Given the description of an element on the screen output the (x, y) to click on. 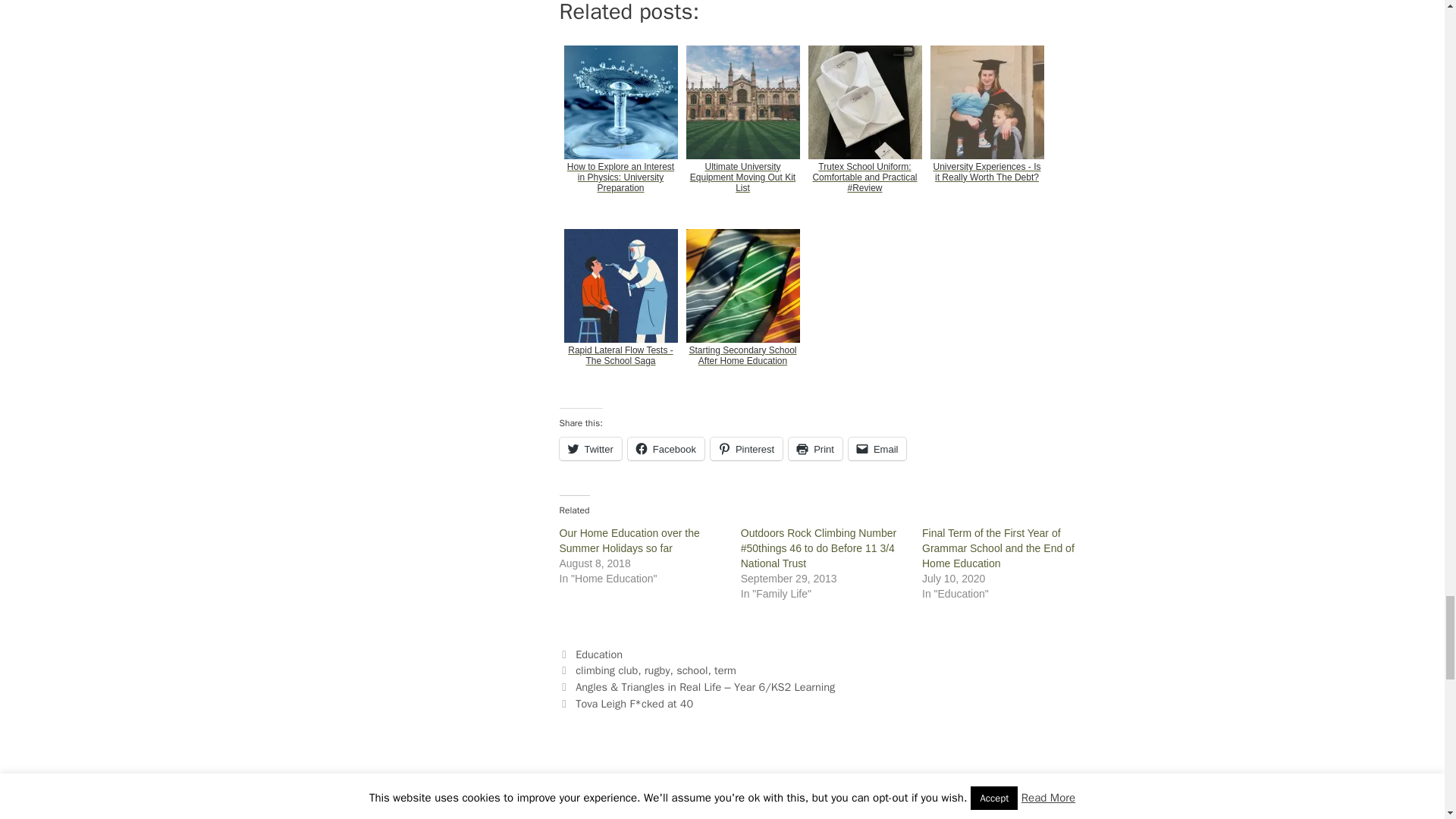
Click to share on Facebook (665, 448)
Click to print (816, 448)
Click to share on Pinterest (746, 448)
Click to email a link to a friend (877, 448)
Click to share on Twitter (590, 448)
Our Home Education over the Summer Holidays so far (629, 540)
